Given the description of an element on the screen output the (x, y) to click on. 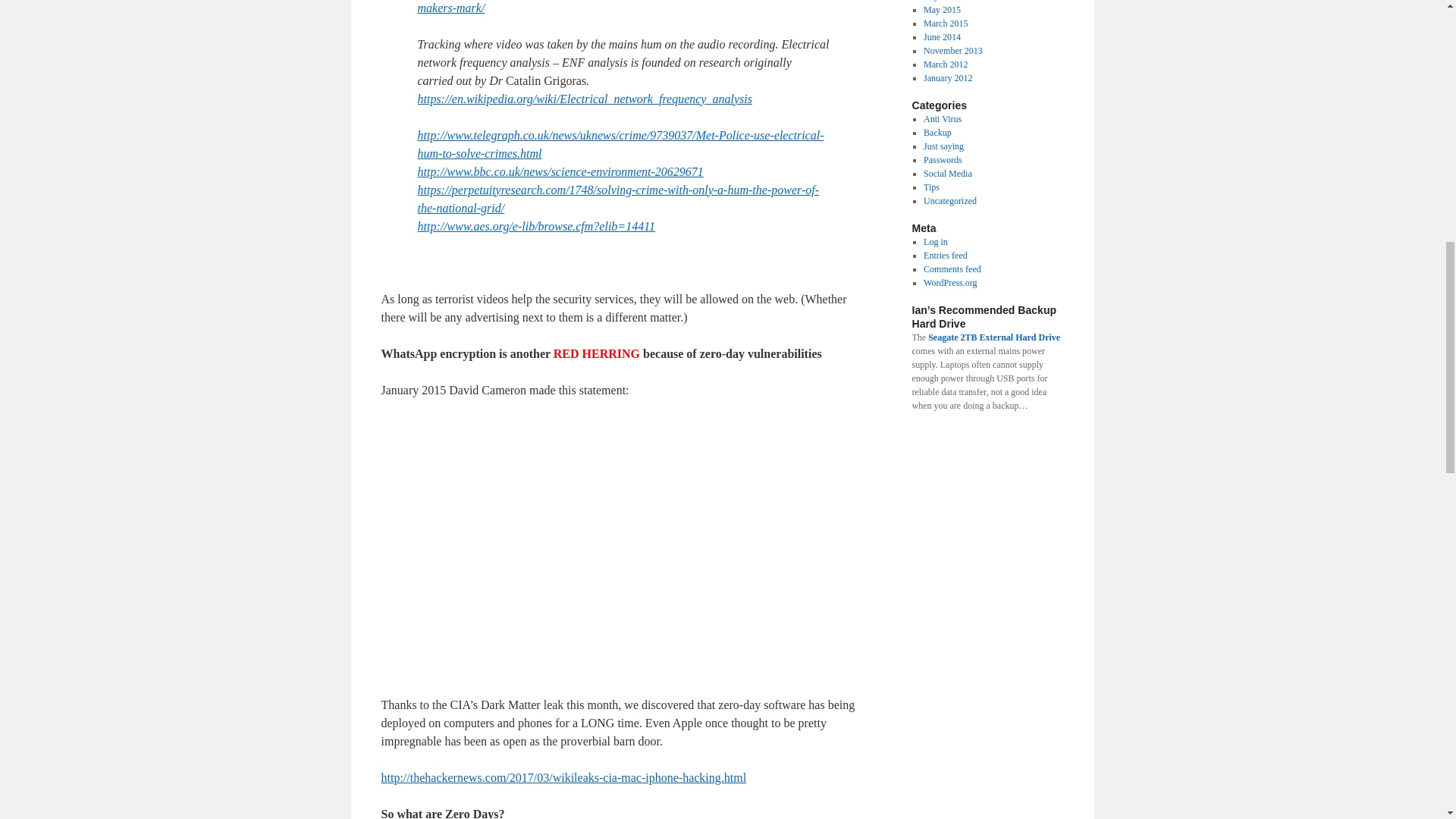
After anti virus advice, check these articles out here! (941, 118)
Mark's top tips for social media (947, 173)
